Given the description of an element on the screen output the (x, y) to click on. 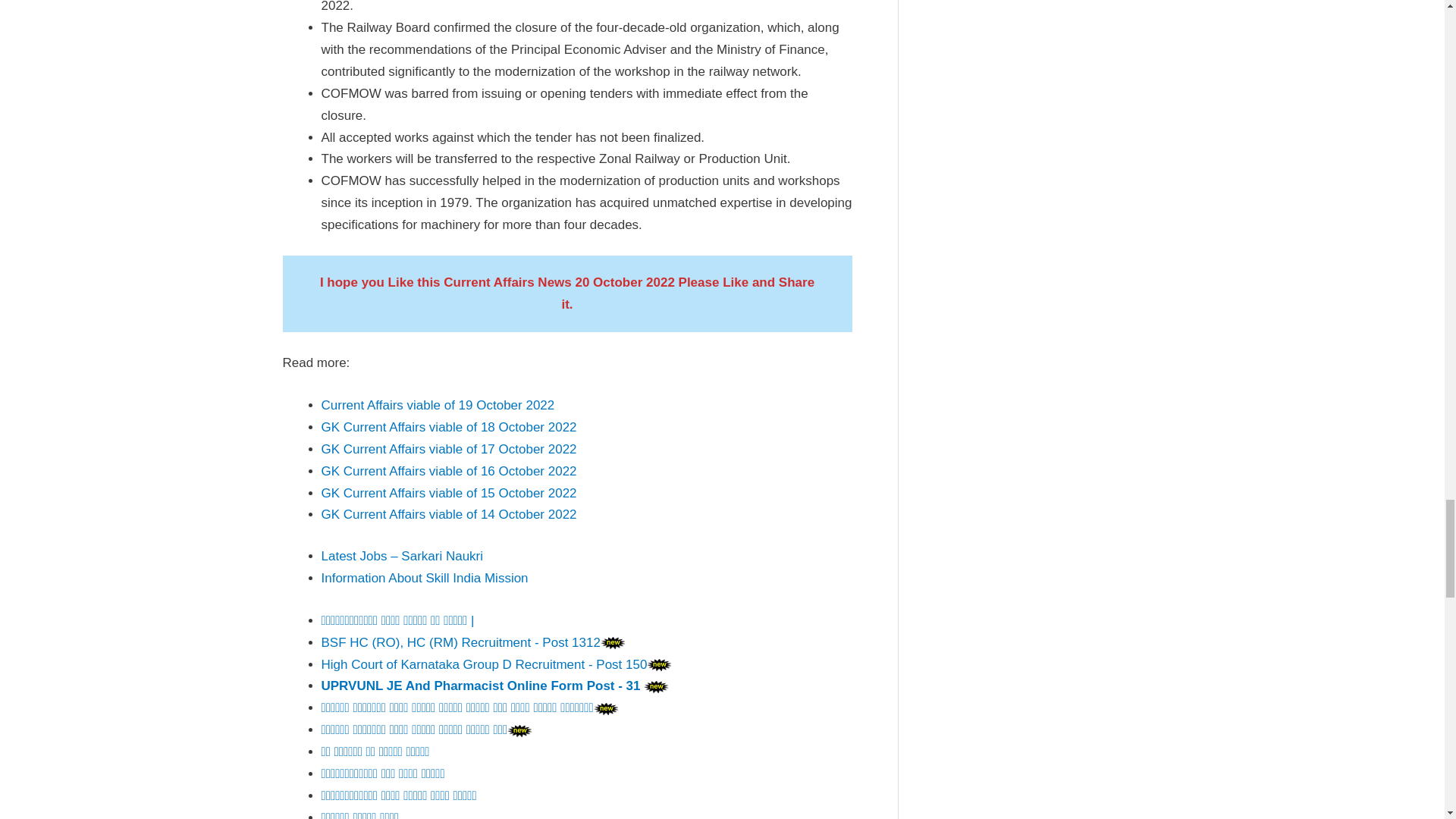
GK Current Affairs viable of 16 October 2022 (448, 471)
GK Current Affairs viable of 15 October 2022 (448, 493)
Current Affairs viable of 19 October 2022 (437, 405)
GK Current Affairs viable of 18 October 2022 (448, 427)
Information About Skill India Mission (424, 577)
GK Current Affairs viable of 17 October 2022 (448, 449)
GK Current Affairs viable of 14 October 2022 (448, 513)
